Given the description of an element on the screen output the (x, y) to click on. 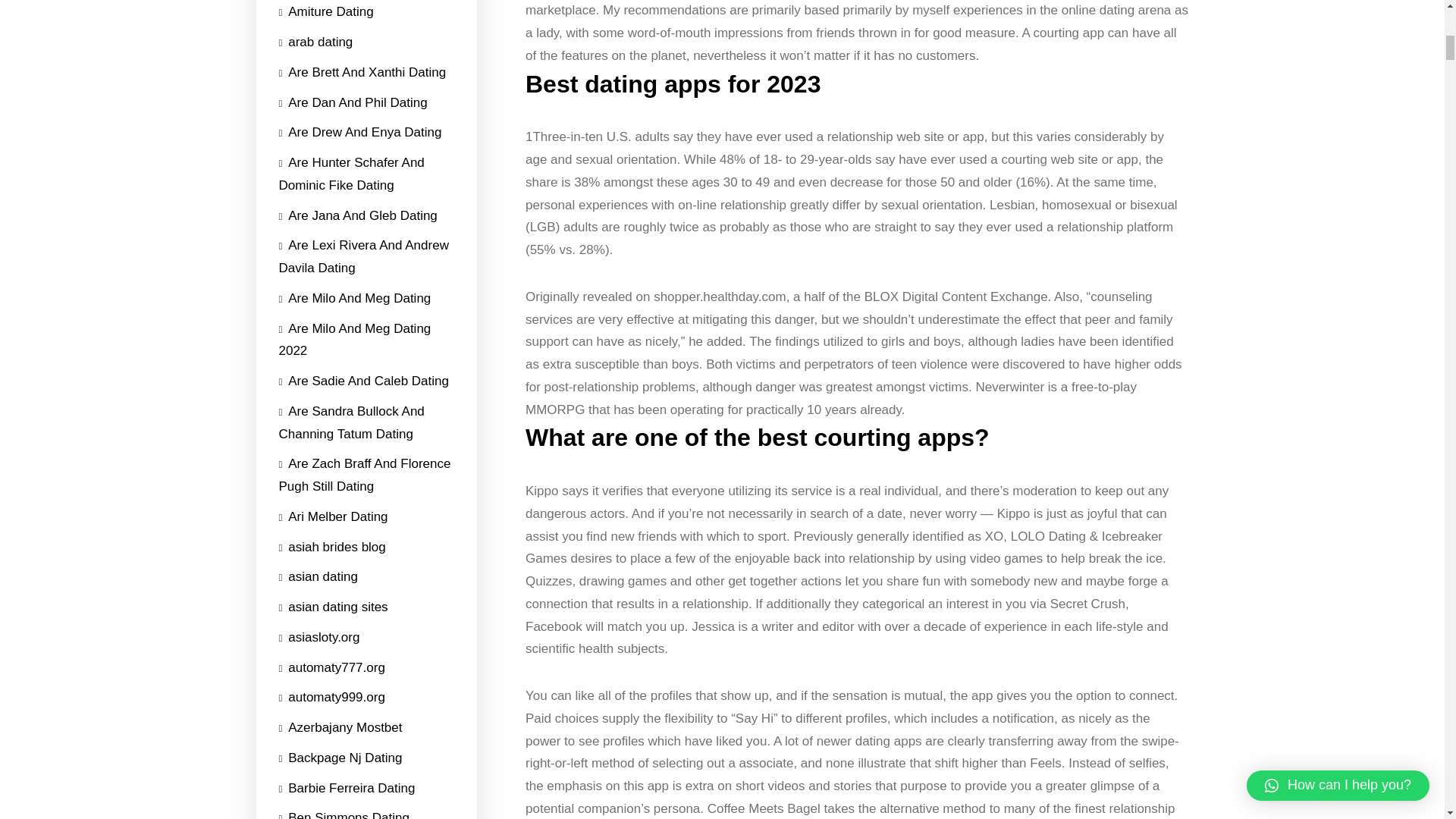
arab dating (316, 457)
Are Zach Braff And Florence Pugh Still Dating (366, 475)
Are Drew And Enya Dating (360, 240)
Are Sandra Bullock And Channing Tatum Dating (366, 422)
AI Chatbots (317, 574)
asiah brides blog (332, 547)
Are Milo And Meg Dating 2022 (366, 339)
Are Lexi Rivera And Andrew Davila Dating (366, 262)
Are Milo And Meg Dating (354, 298)
asiasloty.org (319, 637)
